Given the description of an element on the screen output the (x, y) to click on. 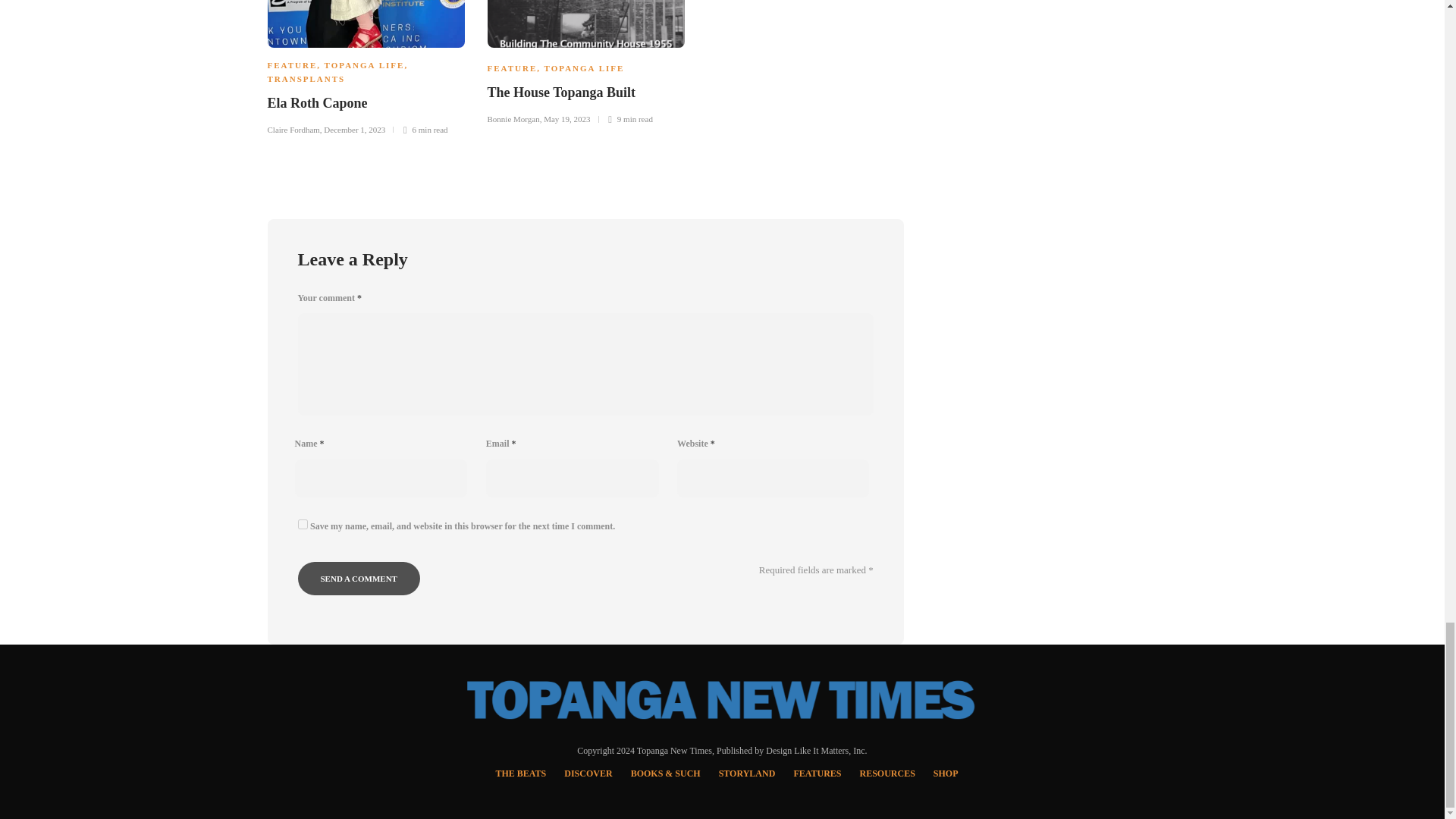
Send a comment (358, 578)
yes (302, 524)
